Given the description of an element on the screen output the (x, y) to click on. 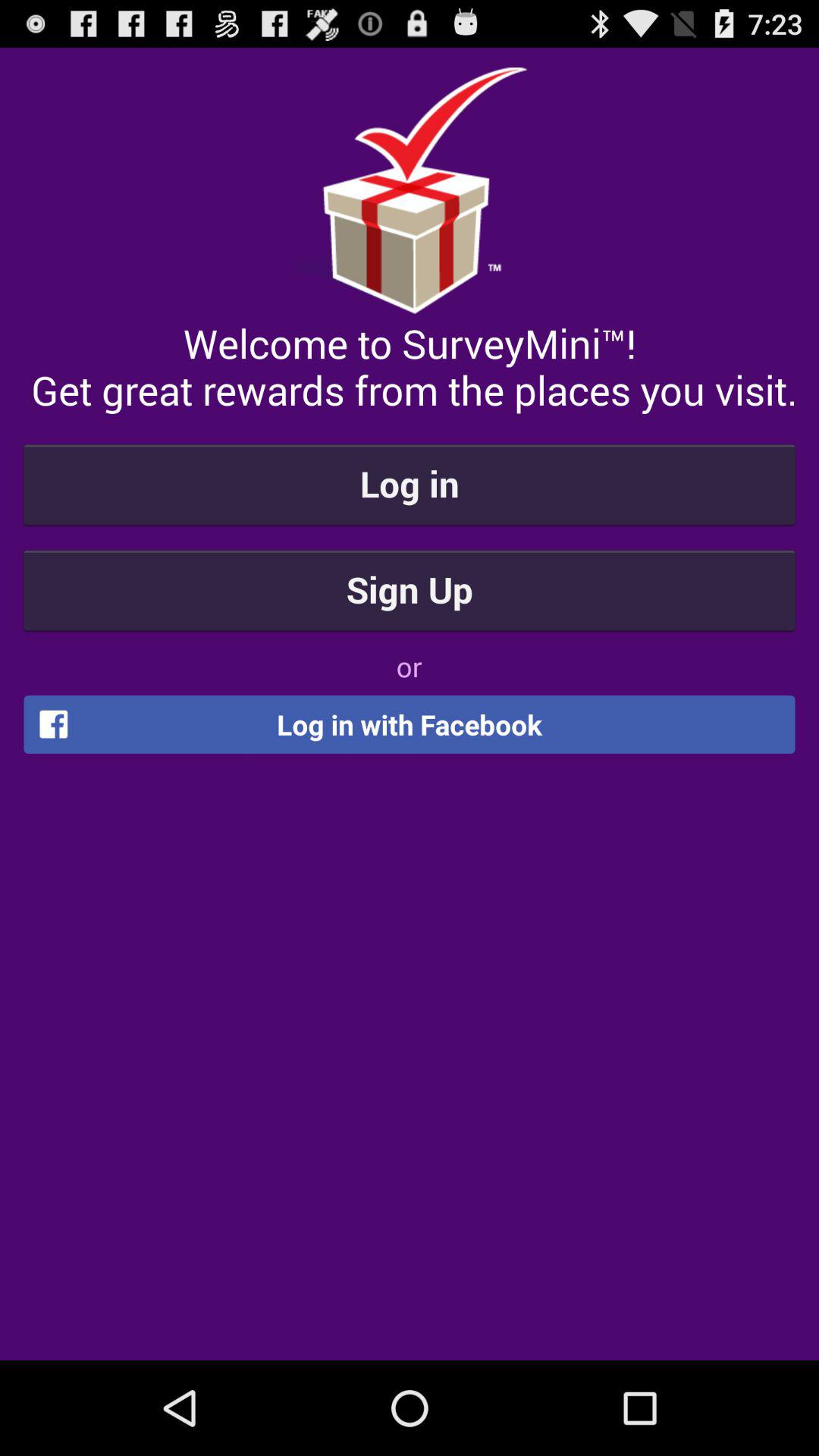
press sign up (409, 589)
